Given the description of an element on the screen output the (x, y) to click on. 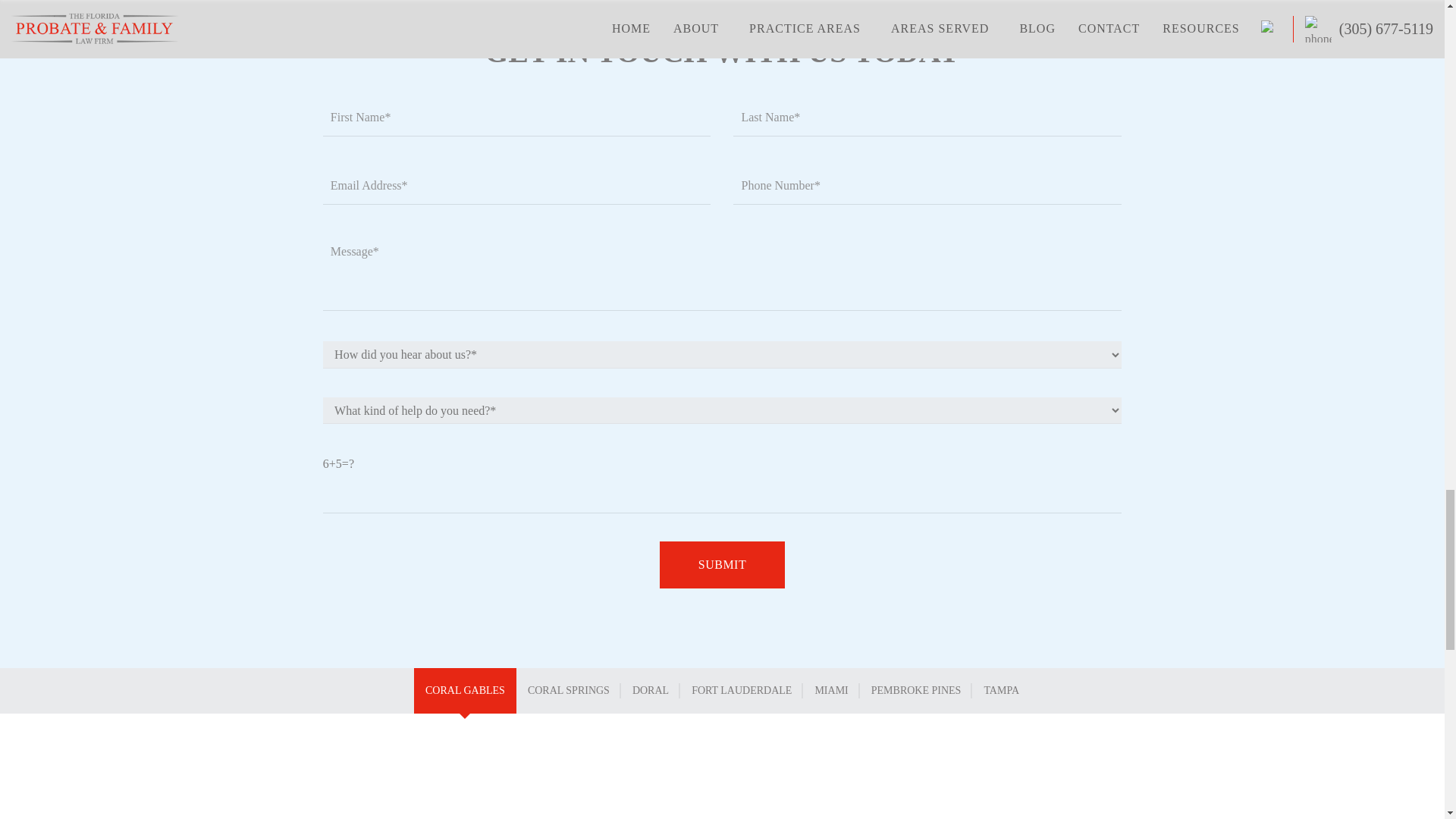
Submit (721, 564)
